Given the description of an element on the screen output the (x, y) to click on. 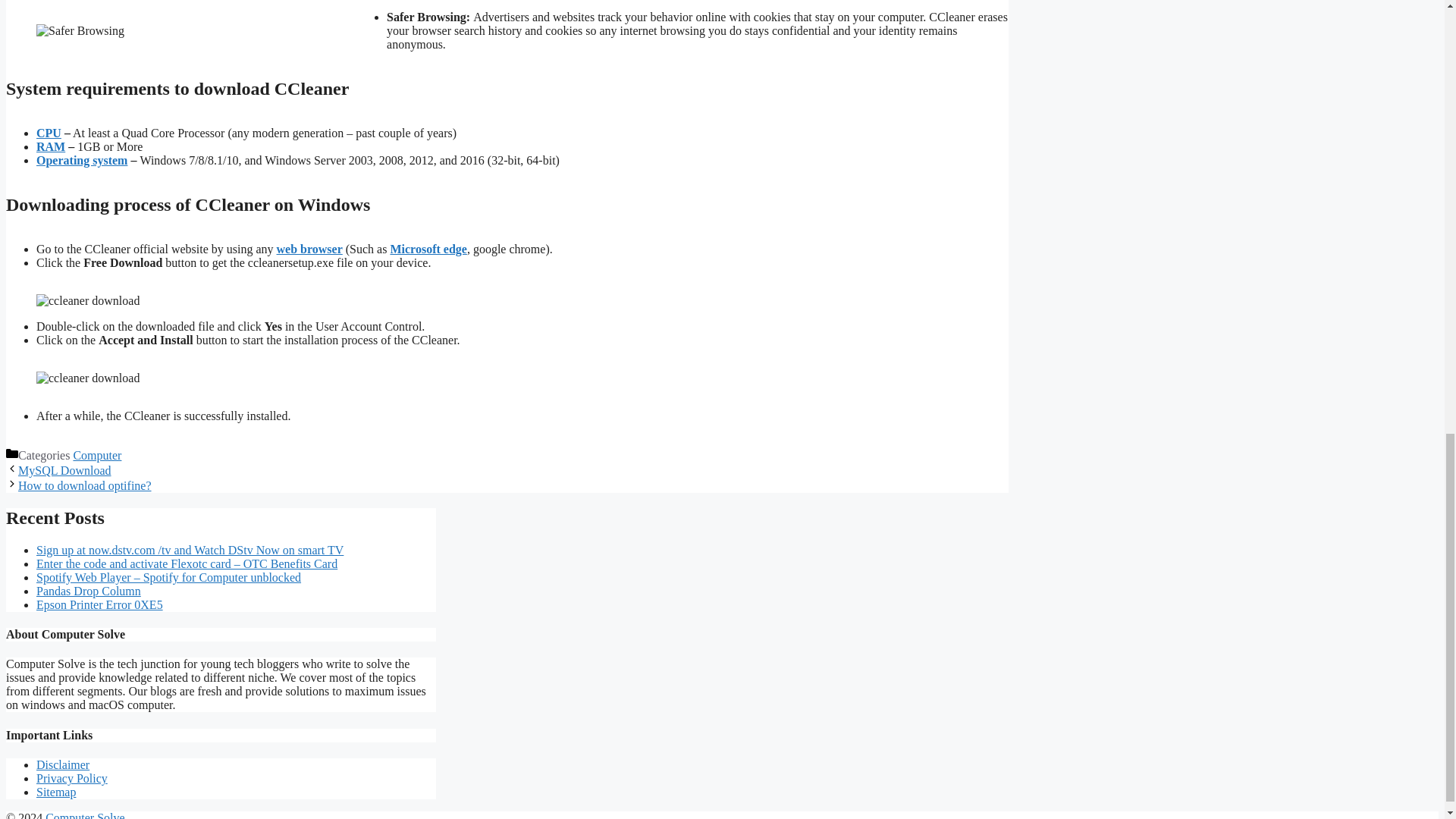
RAM (50, 146)
How to download optifine? (84, 485)
Operating system (82, 160)
MySQL Download (64, 470)
Microsoft edge (427, 248)
Computer (96, 454)
web browser (309, 248)
CPU (48, 132)
